Given the description of an element on the screen output the (x, y) to click on. 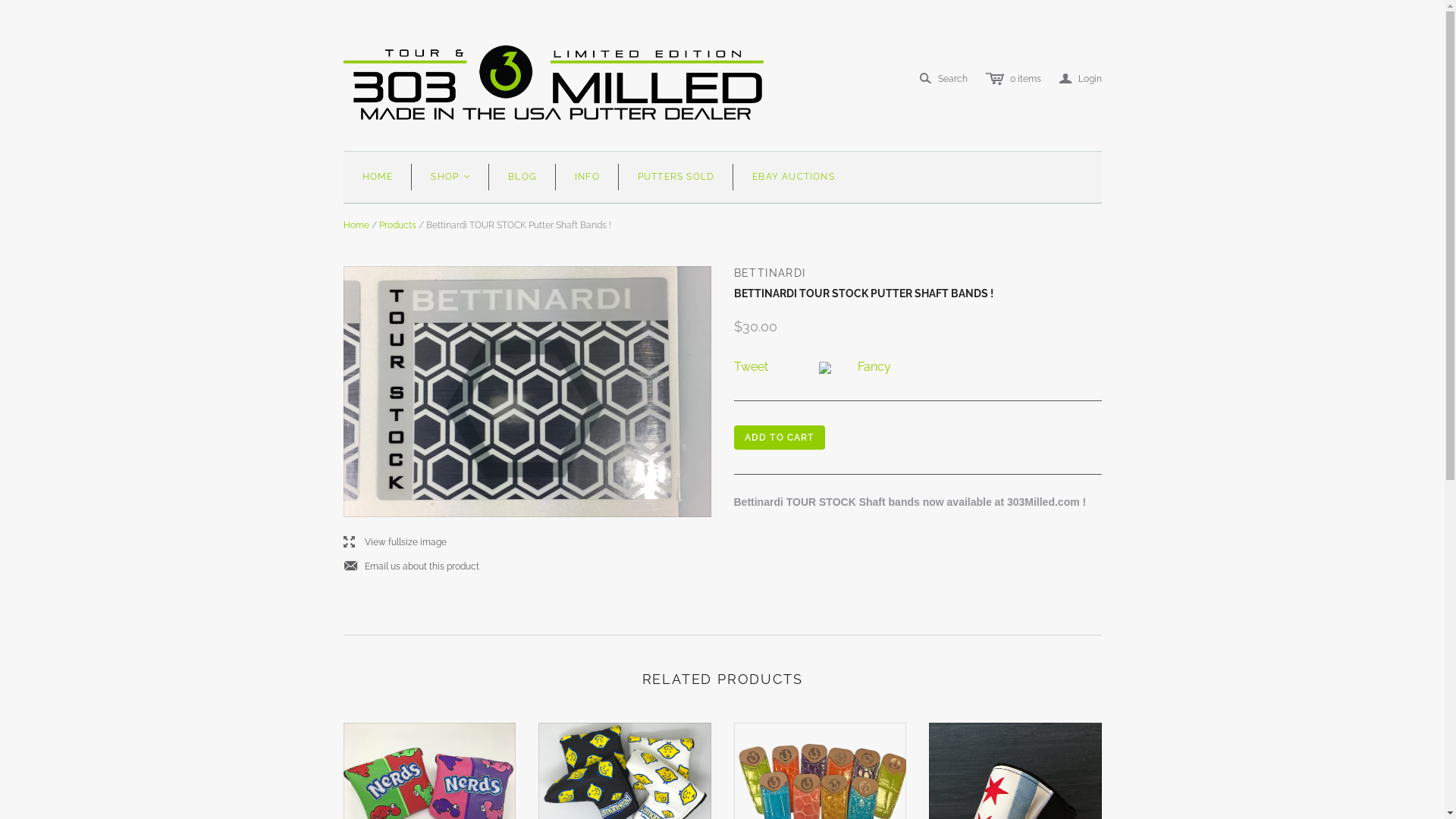
j
Email us about this product Element type: text (410, 566)
s
Search Element type: text (942, 78)
l
View fullsize image Element type: text (393, 542)
SHOP
< Element type: text (450, 176)
Fancy Element type: text (873, 366)
INFO Element type: text (586, 176)
Products Element type: text (397, 224)
Add to cart Element type: text (779, 437)
a
Login Element type: text (1079, 78)
BLOG Element type: text (522, 176)
EBAY AUCTIONS Element type: text (793, 176)
PUTTERS SOLD Element type: text (675, 176)
HOME Element type: text (376, 176)
Tweet Element type: text (751, 366)
Home Element type: text (355, 224)
